Given the description of an element on the screen output the (x, y) to click on. 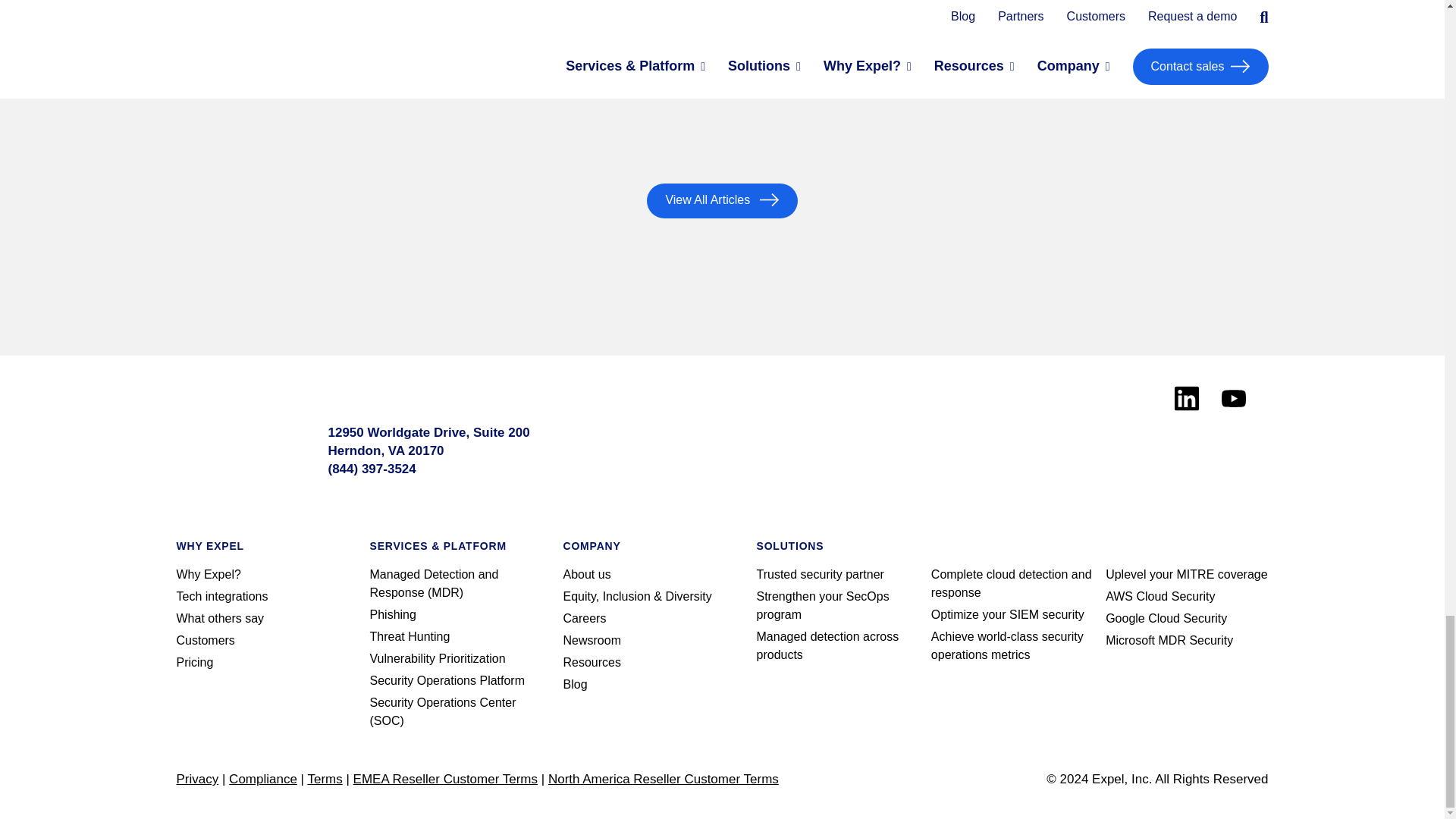
linkedin-icon (1185, 398)
youtube-icon (1232, 398)
twitter-x-icon (1037, 442)
